Given the description of an element on the screen output the (x, y) to click on. 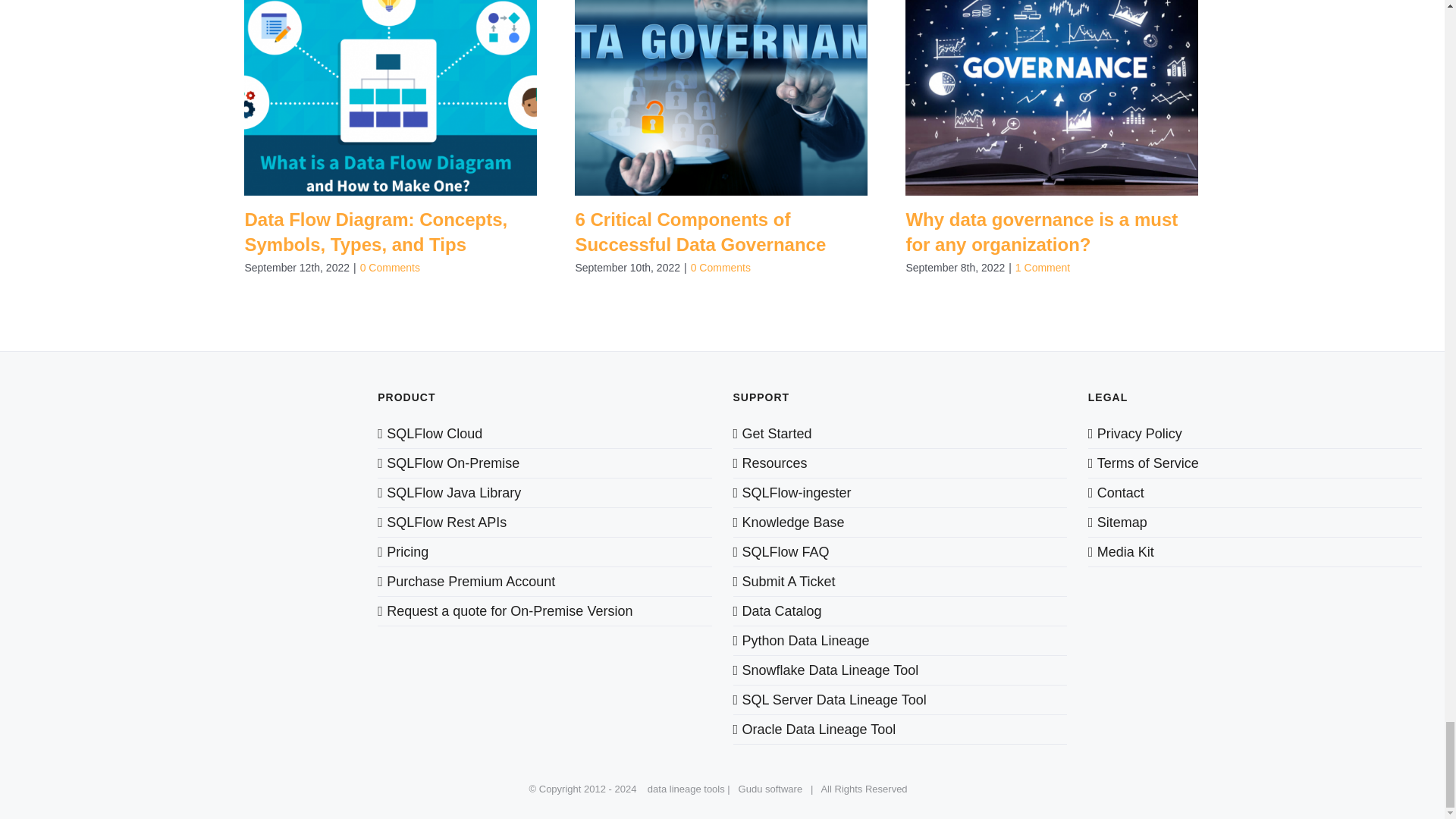
6 Critical Components of Successful Data Governance (700, 232)
Why data governance is a must for any organization? (1041, 232)
Data Flow Diagram: Concepts, Symbols, Types, and Tips (375, 232)
Knowledge Base (899, 522)
